Given the description of an element on the screen output the (x, y) to click on. 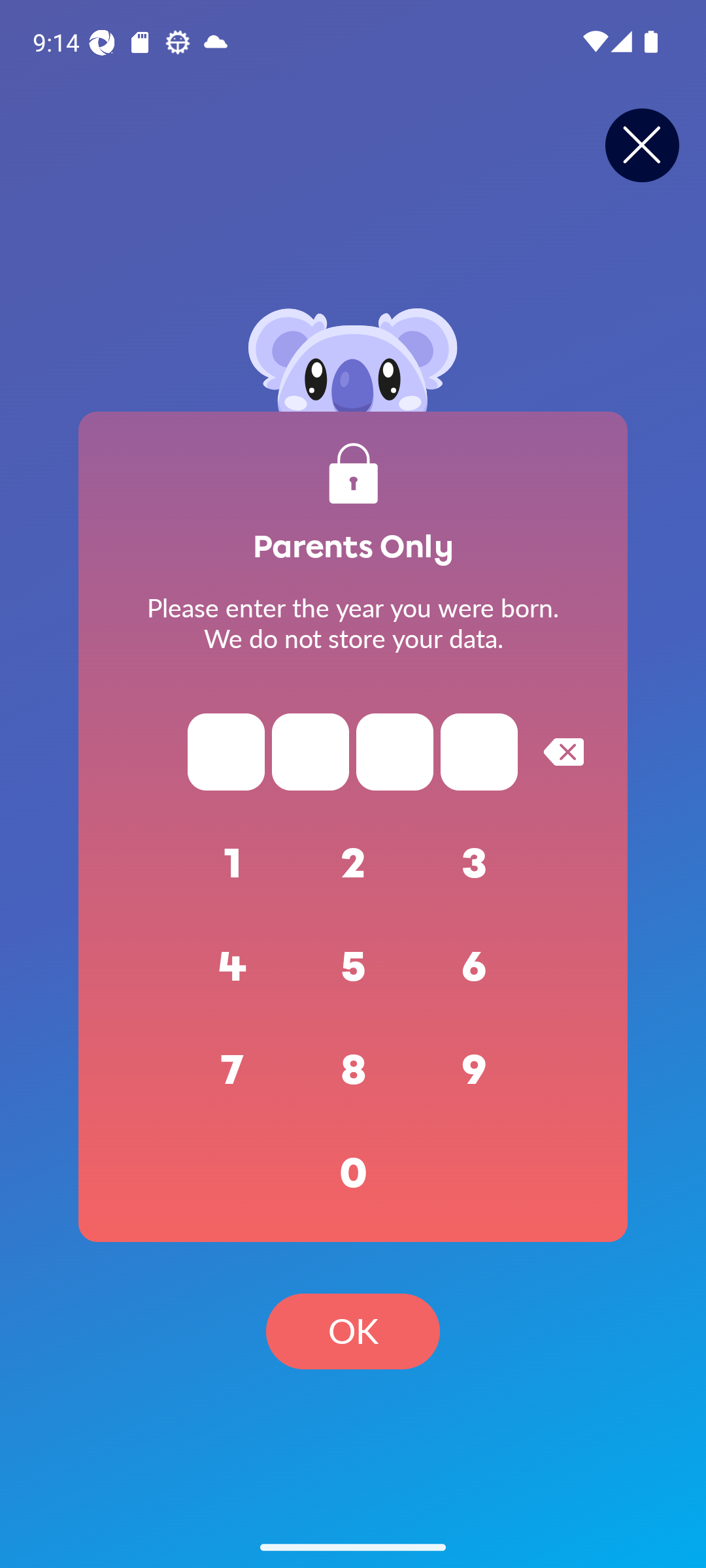
Delete (563, 751)
1 (232, 863)
2 (353, 863)
3 (474, 863)
4 (232, 966)
5 (353, 966)
6 (474, 966)
7 (232, 1069)
8 (353, 1069)
9 (474, 1069)
0 (353, 1173)
OK (352, 1331)
